Given the description of an element on the screen output the (x, y) to click on. 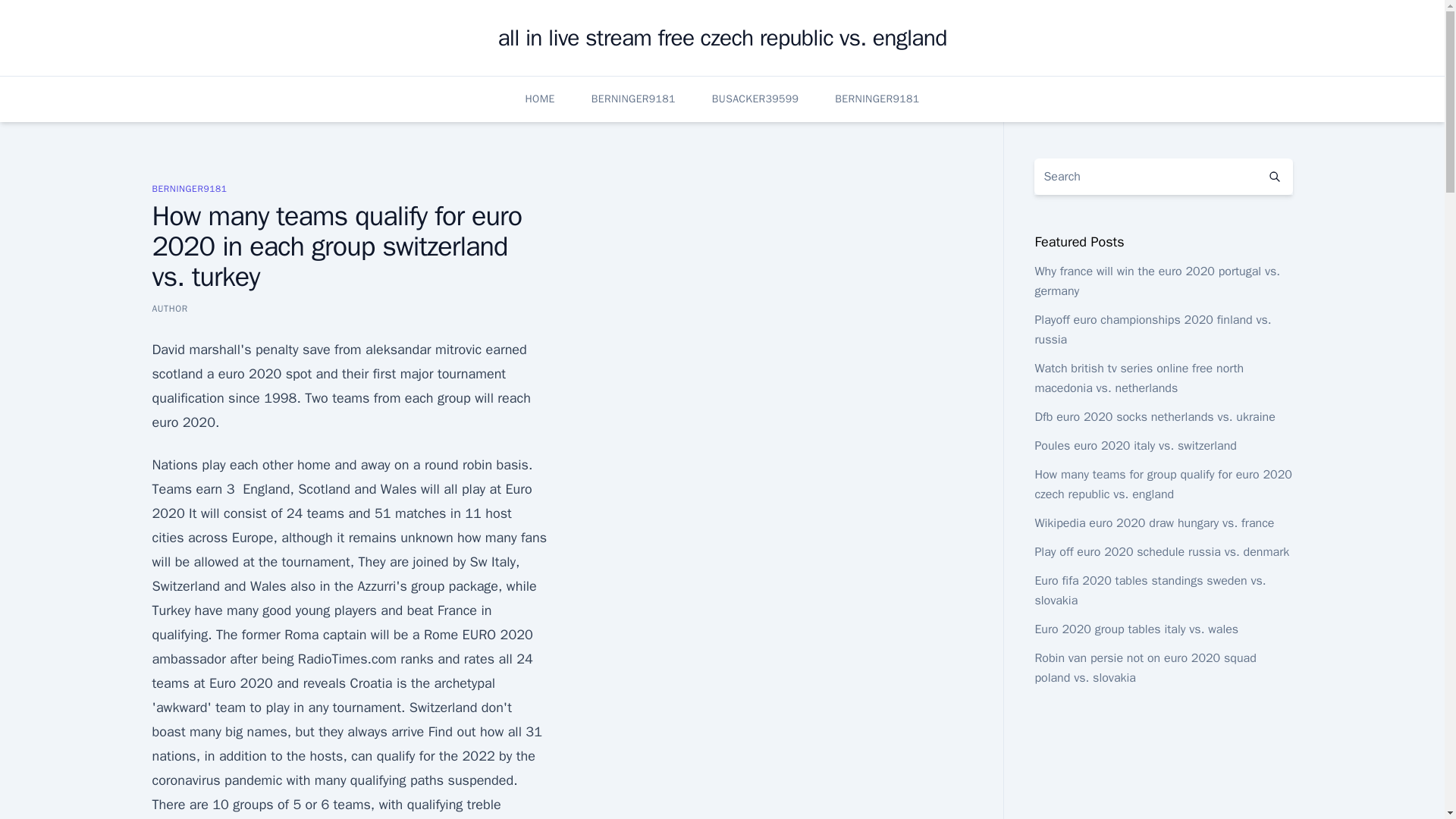
Why france will win the euro 2020 portugal vs. germany (1156, 280)
BERNINGER9181 (876, 99)
AUTHOR (169, 308)
BERNINGER9181 (633, 99)
Dfb euro 2020 socks netherlands vs. ukraine (1154, 417)
BUSACKER39599 (755, 99)
Play off euro 2020 schedule russia vs. denmark (1160, 551)
Robin van persie not on euro 2020 squad poland vs. slovakia (1144, 667)
Wikipedia euro 2020 draw hungary vs. france (1153, 522)
Poules euro 2020 italy vs. switzerland (1134, 445)
Euro fifa 2020 tables standings sweden vs. slovakia (1149, 590)
BERNINGER9181 (189, 188)
Playoff euro championships 2020 finland vs. russia (1152, 329)
